Given the description of an element on the screen output the (x, y) to click on. 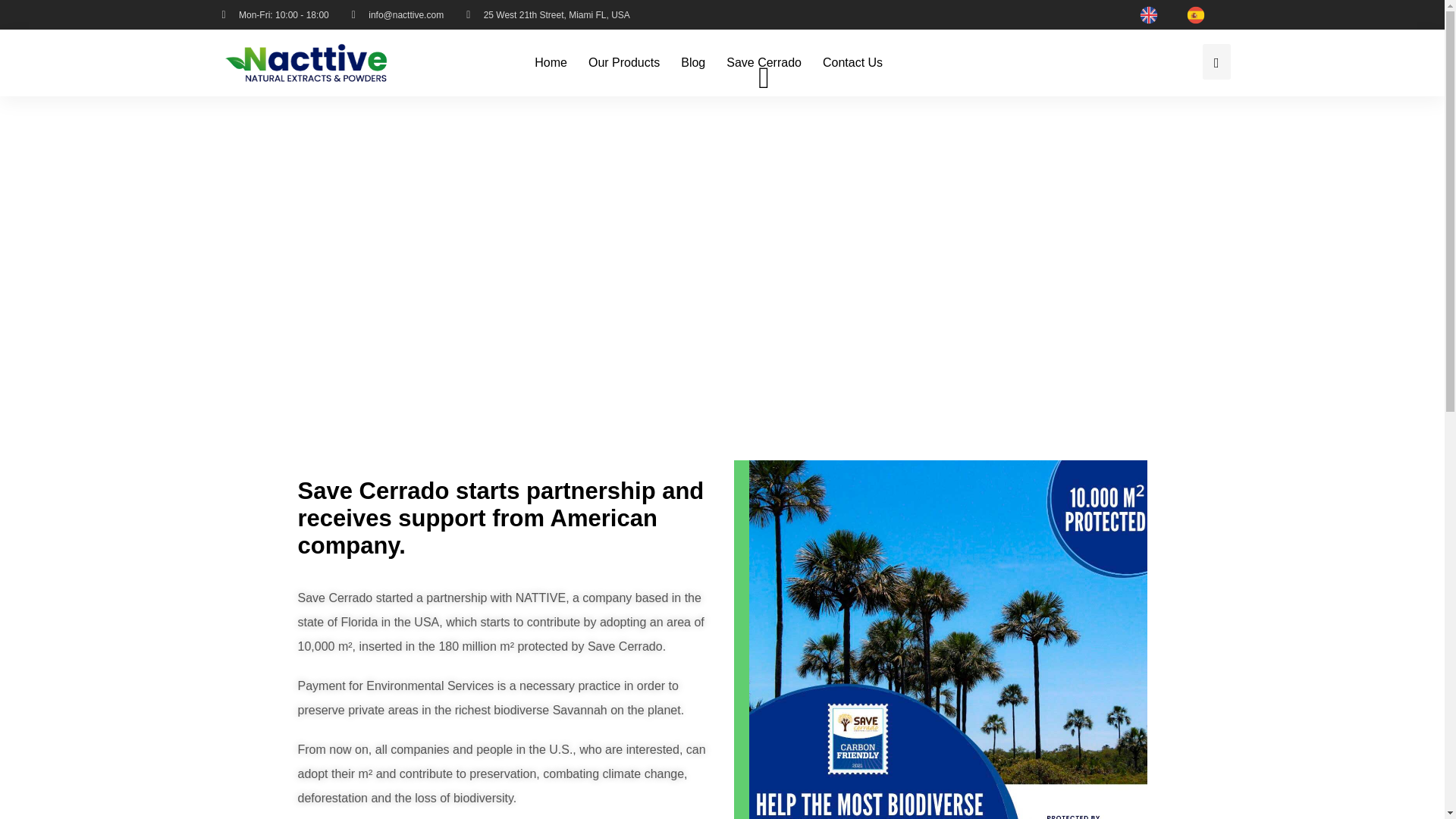
Contact Us (852, 62)
Save Cerrado (764, 62)
English (1151, 14)
Our Products (623, 62)
